Given the description of an element on the screen output the (x, y) to click on. 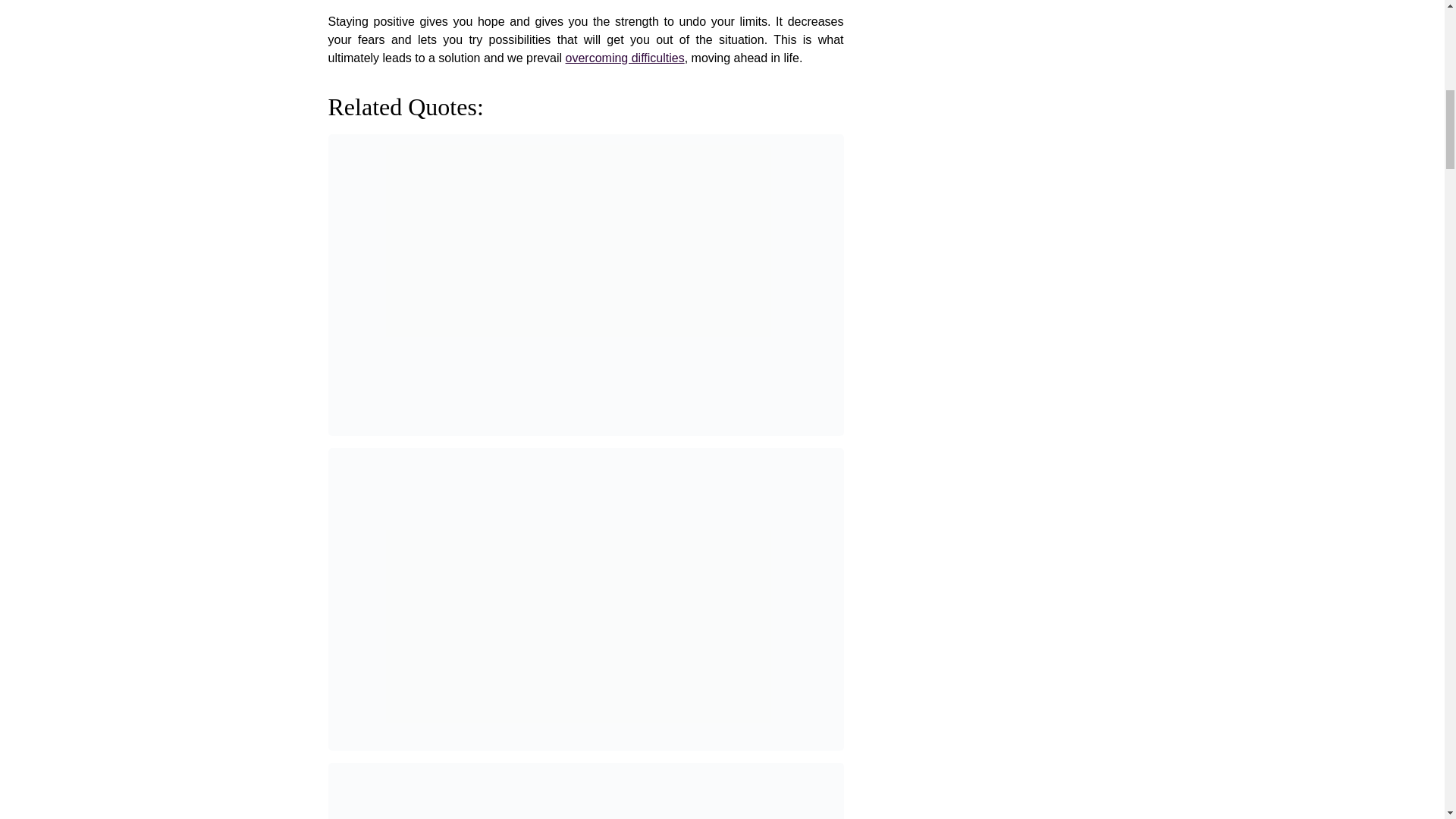
overcoming difficulties (625, 57)
Quotes About Overcoming Challenges (625, 57)
